Given the description of an element on the screen output the (x, y) to click on. 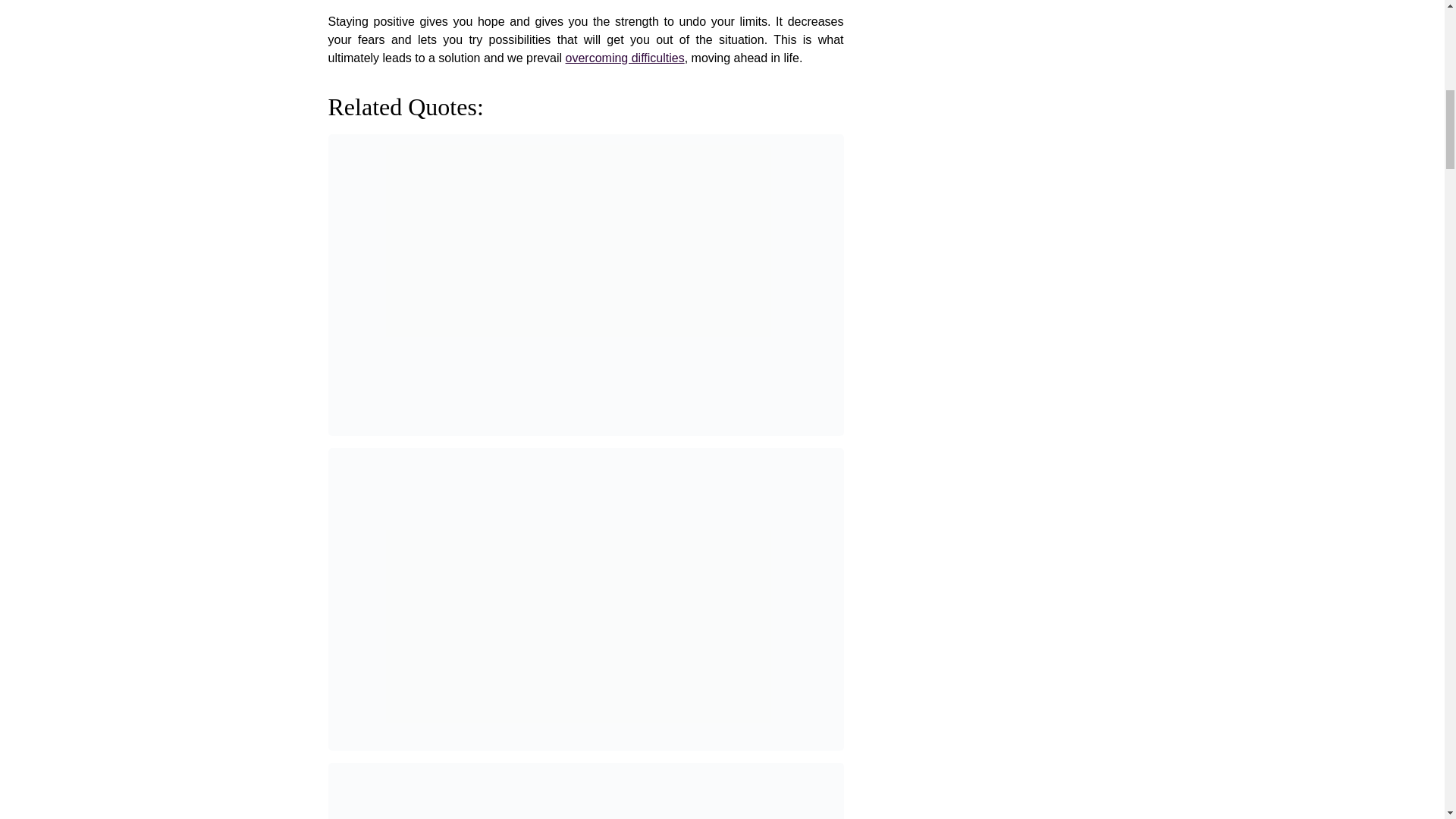
overcoming difficulties (625, 57)
Quotes About Overcoming Challenges (625, 57)
